Given the description of an element on the screen output the (x, y) to click on. 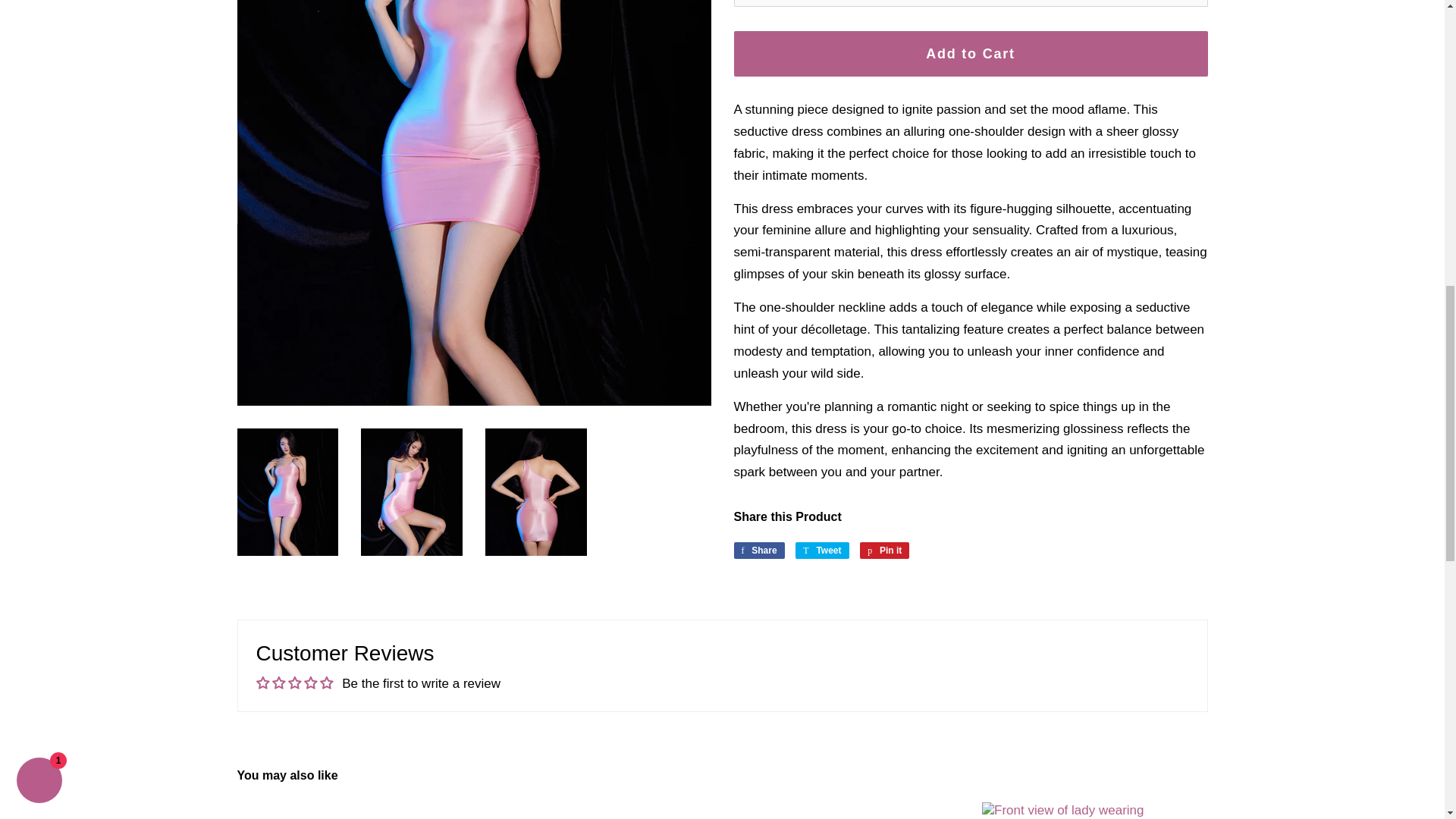
Tweet on Twitter (821, 550)
1 (970, 3)
Share on Facebook (758, 550)
Pin on Pinterest (884, 550)
